Given the description of an element on the screen output the (x, y) to click on. 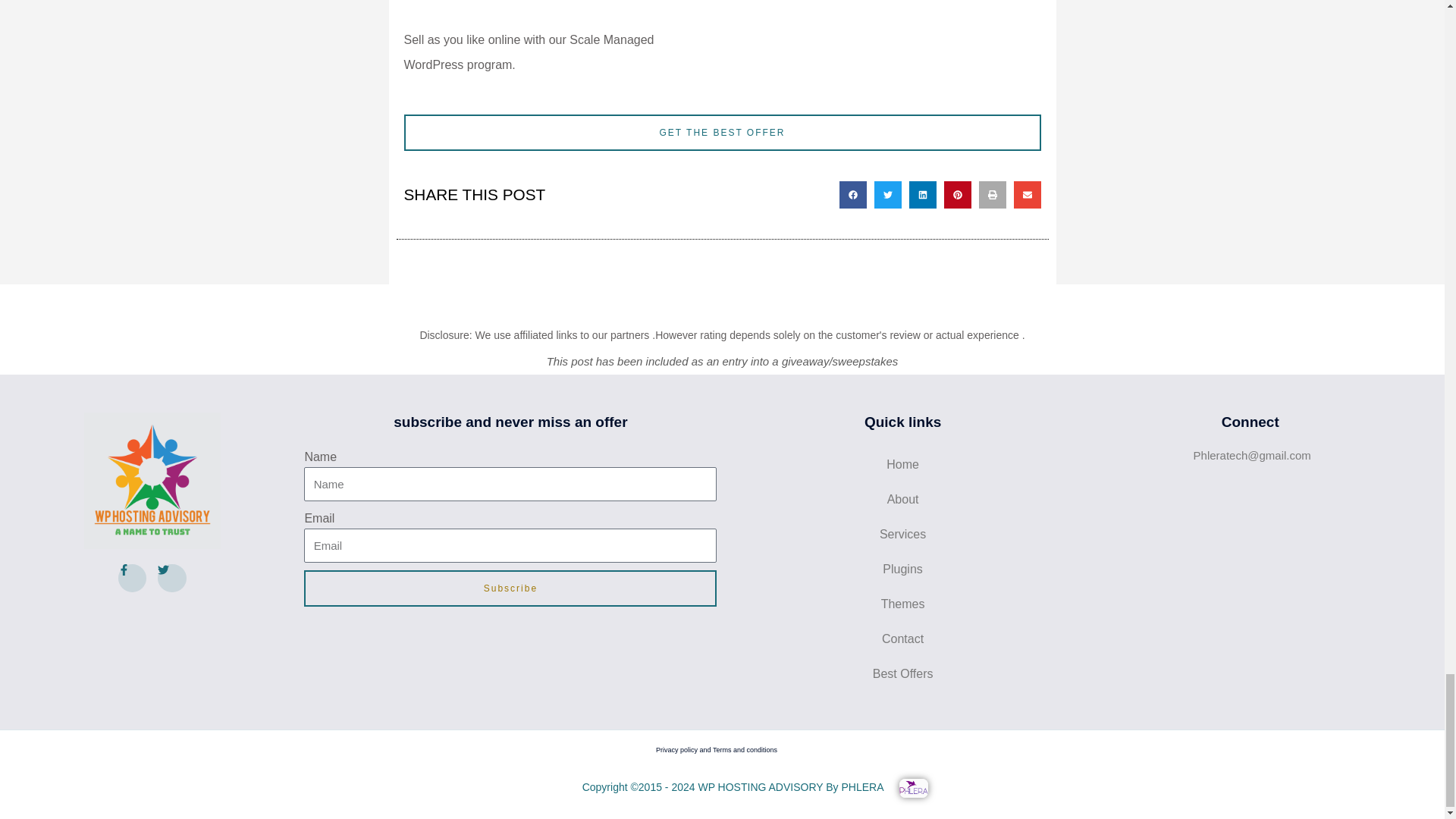
Facebook-f (132, 578)
Subscribe (510, 588)
GET THE BEST OFFER (722, 132)
Twitter (171, 578)
Home (901, 464)
About (901, 499)
